Given the description of an element on the screen output the (x, y) to click on. 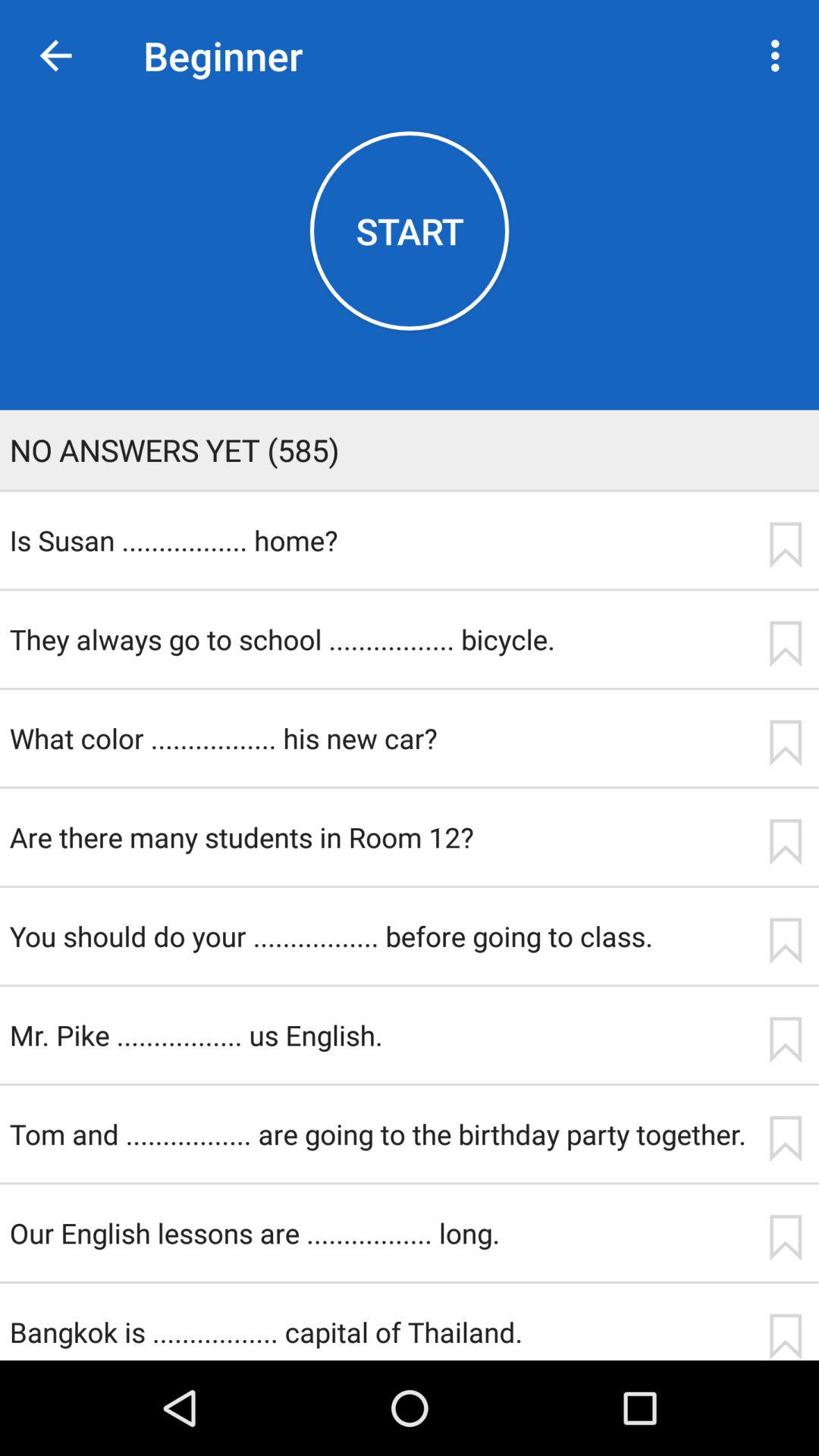
tap app next to the they always go icon (784, 643)
